Given the description of an element on the screen output the (x, y) to click on. 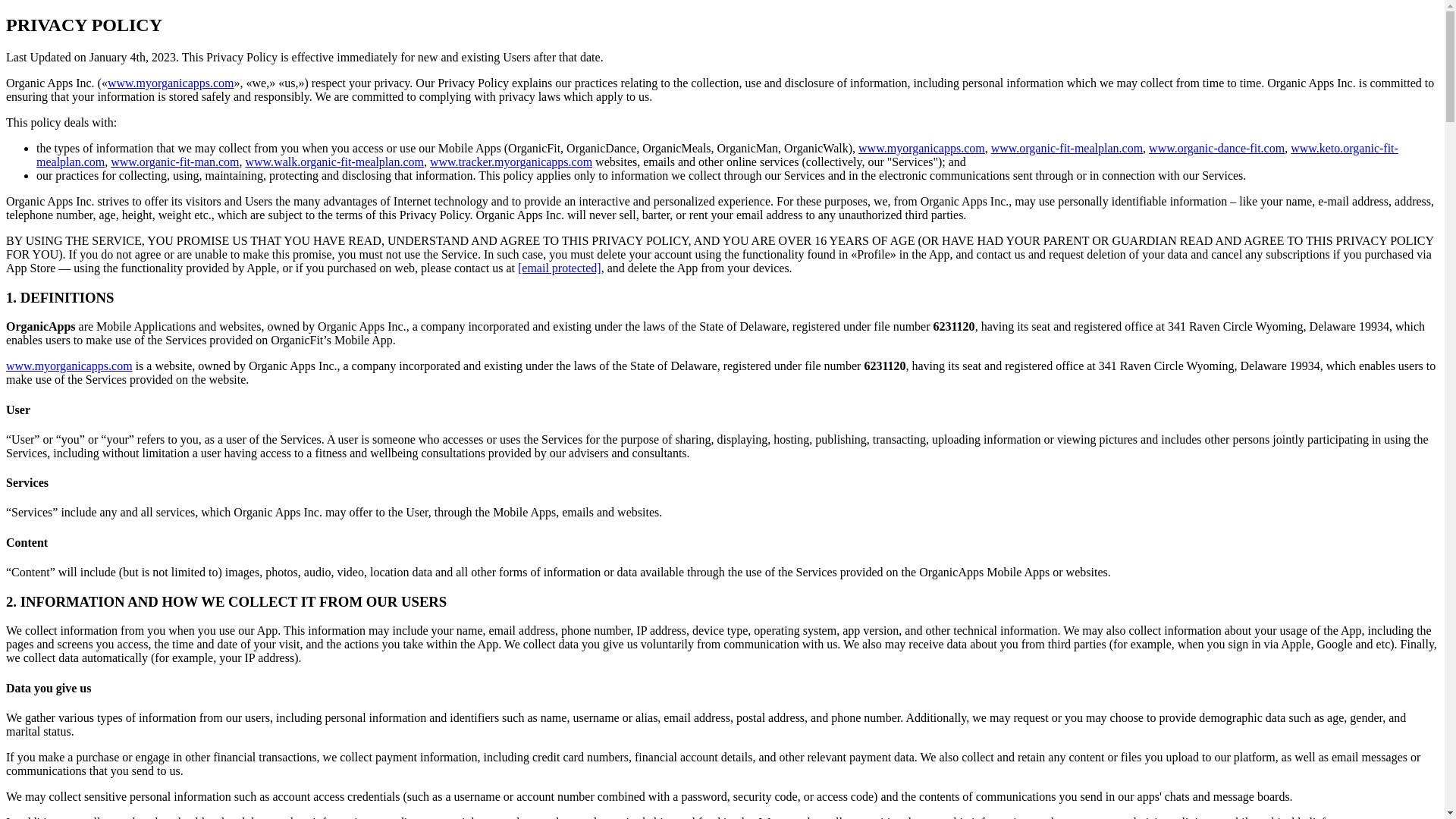
www.tracker.myorganicapps.com (510, 161)
www.organic-fit-man.com (174, 161)
www.walk.organic-fit-mealplan.com (333, 161)
www.organic-fit-mealplan.com (1066, 147)
www.organic-dance-fit.com (1216, 147)
www.myorganicapps.com (170, 82)
www.myorganicapps.com (68, 365)
www.myorganicapps.com (922, 147)
www.keto.organic-fit-mealplan.com (716, 154)
